Given the description of an element on the screen output the (x, y) to click on. 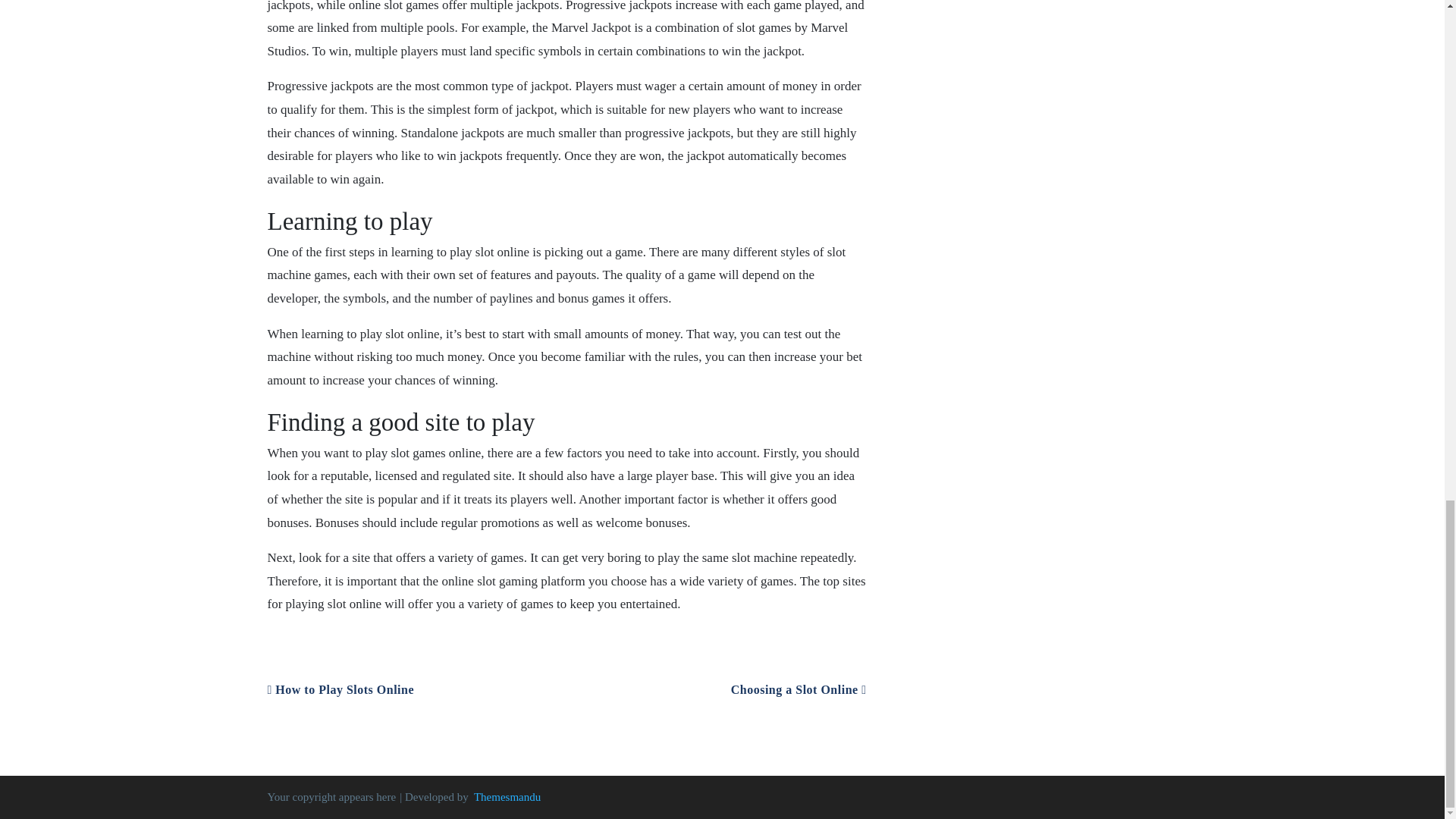
How to Play Slots Online (339, 689)
Choosing a Slot Online (798, 689)
Themesmandu (507, 797)
